Given the description of an element on the screen output the (x, y) to click on. 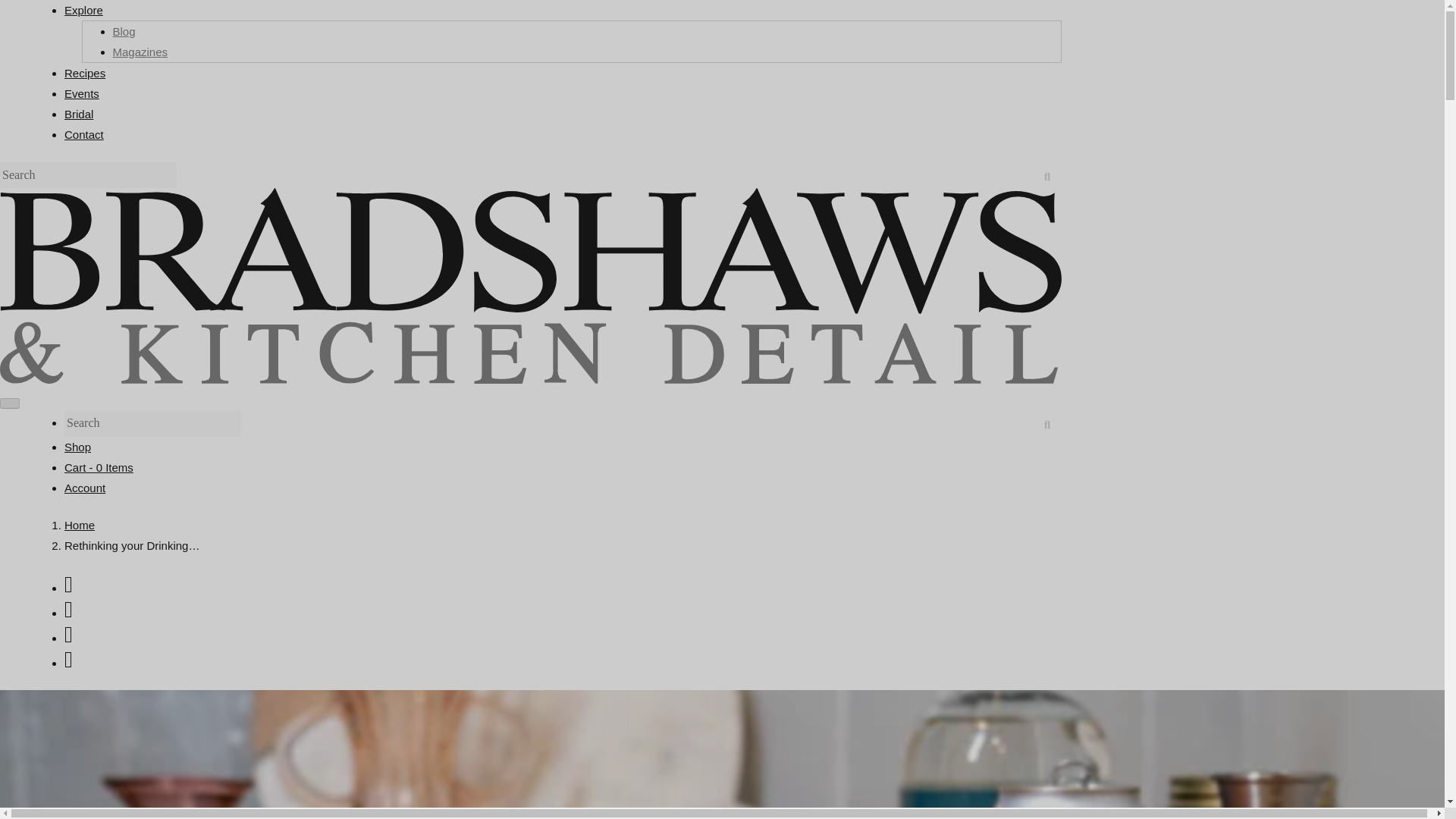
Events (81, 92)
Bridal (78, 113)
Contact (83, 133)
Explore (83, 10)
Magazines (139, 51)
Recipes (84, 72)
Magazines (139, 51)
Account (84, 487)
Bridal (78, 113)
Recipes (84, 72)
Blog (123, 31)
Explore (83, 10)
Events (81, 92)
Shop (77, 446)
Blog (123, 31)
